Given the description of an element on the screen output the (x, y) to click on. 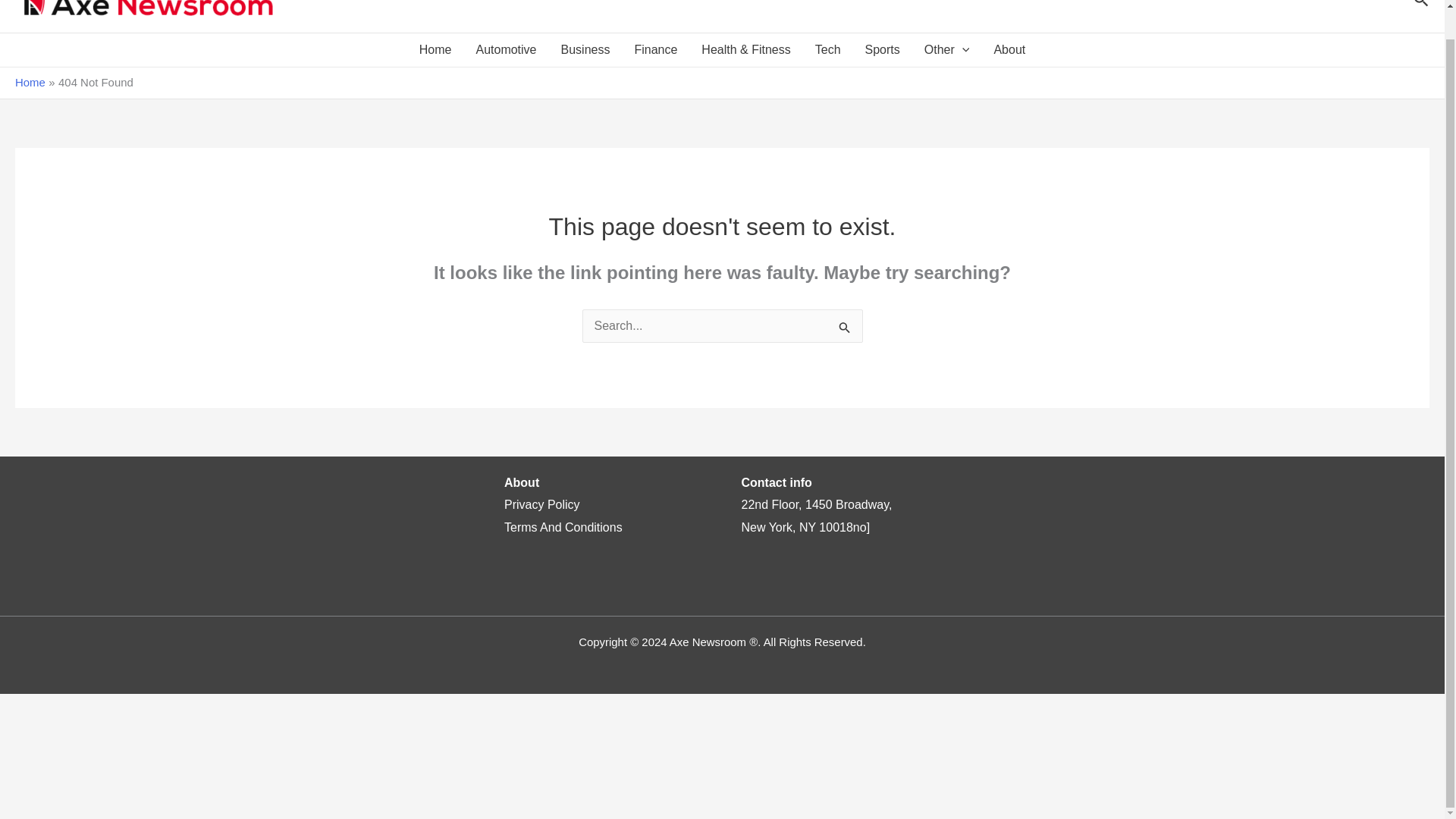
About (1008, 49)
Sports (882, 49)
Tech (828, 49)
Finance (654, 49)
Other (946, 49)
Home (435, 49)
Automotive (505, 49)
Business (585, 49)
